Given the description of an element on the screen output the (x, y) to click on. 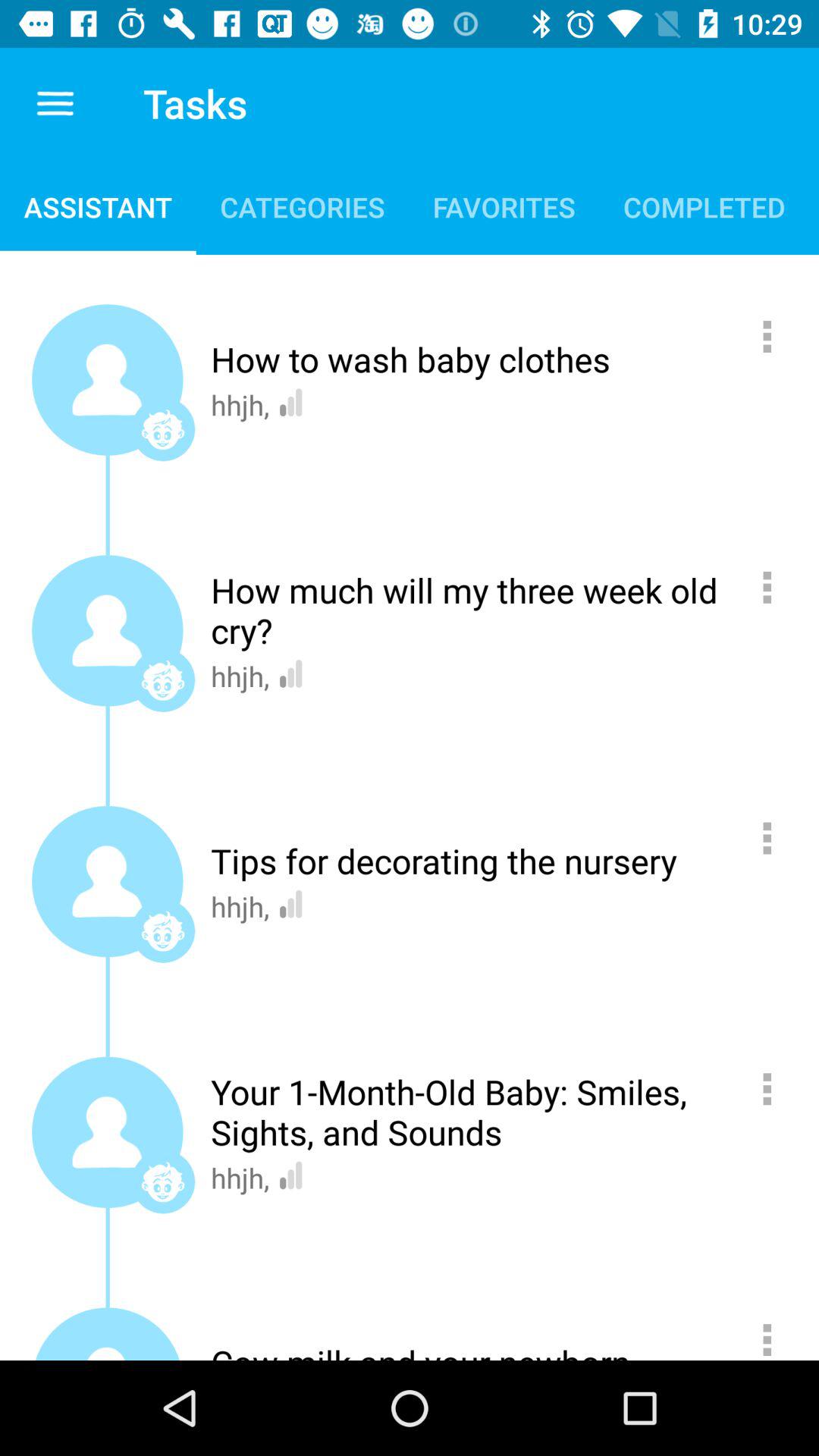
more options (775, 587)
